Given the description of an element on the screen output the (x, y) to click on. 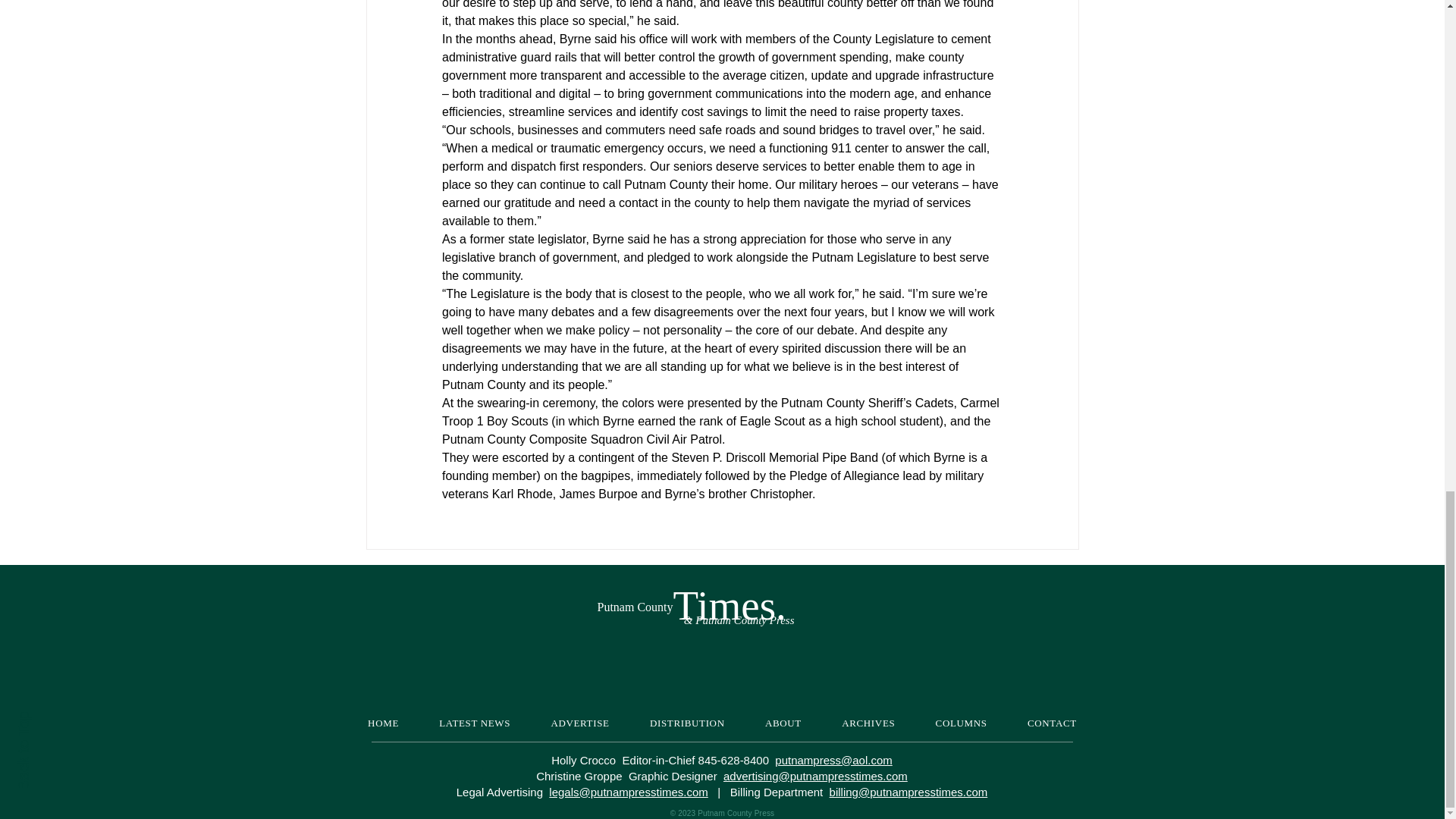
DISTRIBUTION (686, 723)
HOME (382, 723)
ARCHIVES (868, 723)
Times. (729, 605)
LATEST NEWS (474, 723)
ADVERTISE (580, 723)
CONTACT (1051, 723)
ABOUT (783, 723)
COLUMNS (961, 723)
